Given the description of an element on the screen output the (x, y) to click on. 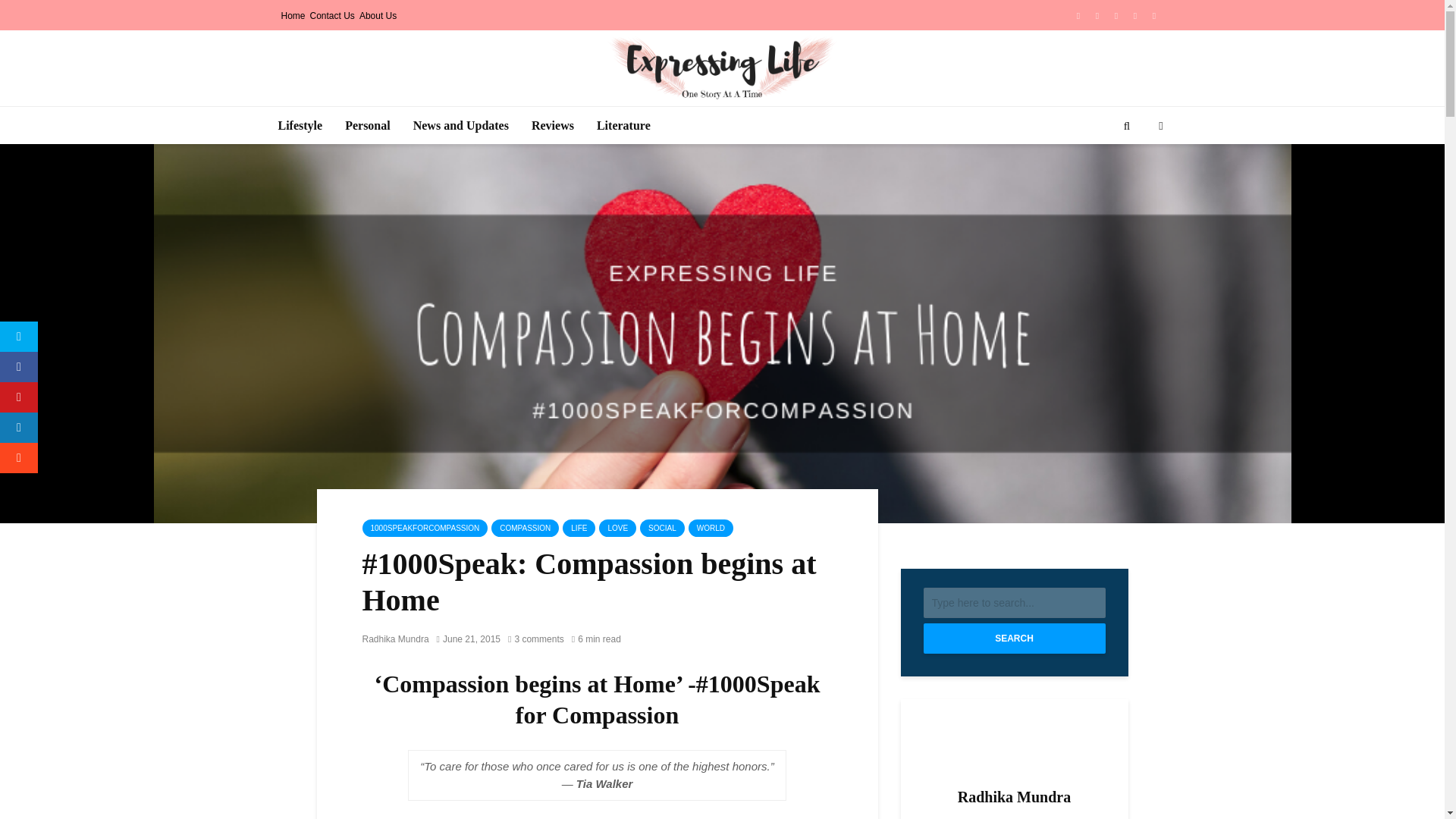
Personal (367, 125)
Home (292, 15)
Lifestyle (300, 125)
Contact Us (332, 15)
News and Updates (460, 125)
Literature (623, 125)
Reviews (552, 125)
About Us (377, 15)
